Given the description of an element on the screen output the (x, y) to click on. 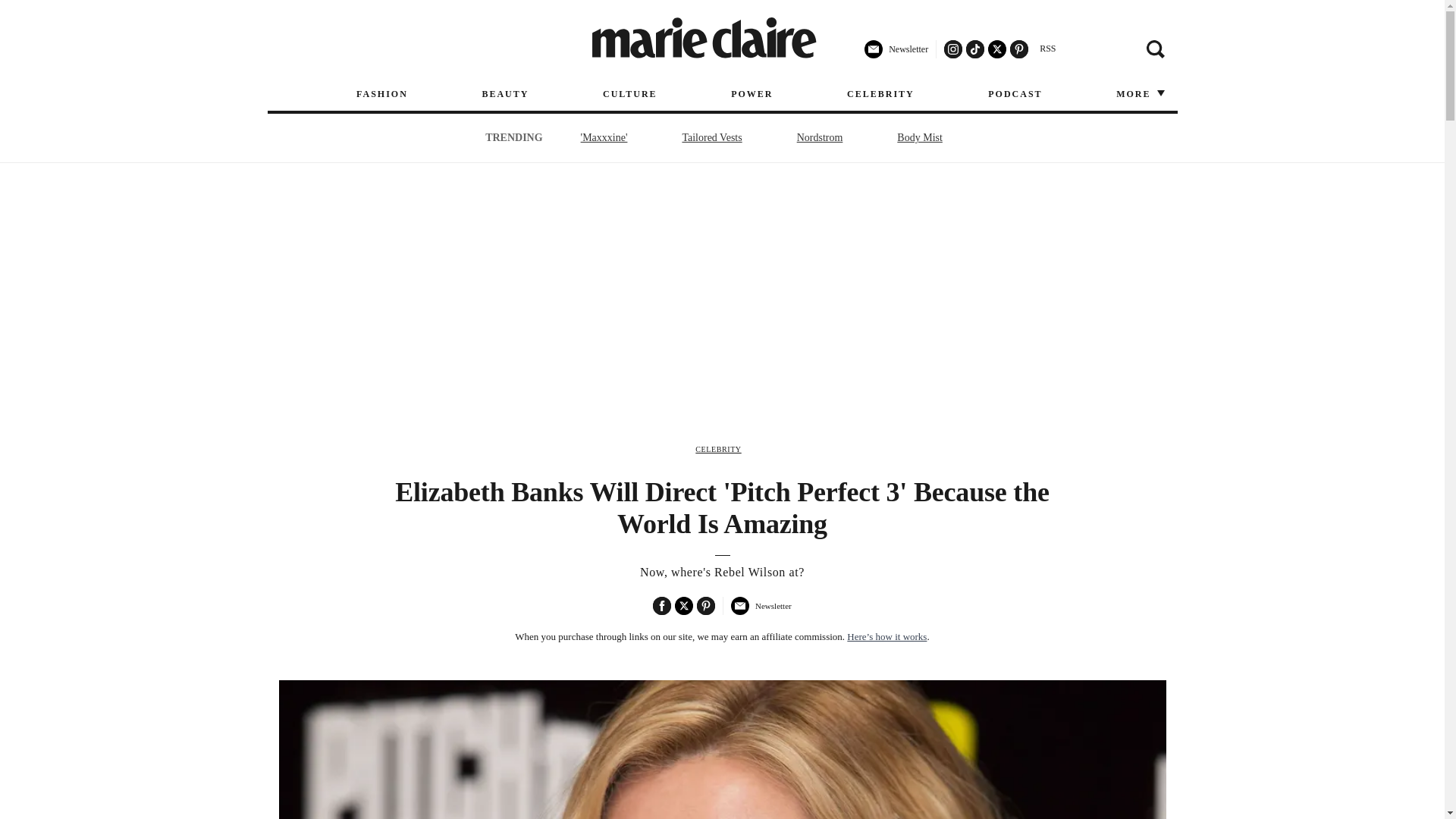
RSS (1047, 48)
Newsletter (760, 611)
CULTURE (630, 94)
'Maxxxine' (604, 137)
CELEBRITY (880, 94)
Newsletter (896, 54)
FASHION (381, 94)
Body Mist (919, 137)
BEAUTY (504, 94)
POWER (751, 94)
Nordstrom (820, 137)
PODCAST (1015, 94)
CELEBRITY (718, 449)
Really Simple Syndication (1047, 48)
Tailored Vests (711, 137)
